Given the description of an element on the screen output the (x, y) to click on. 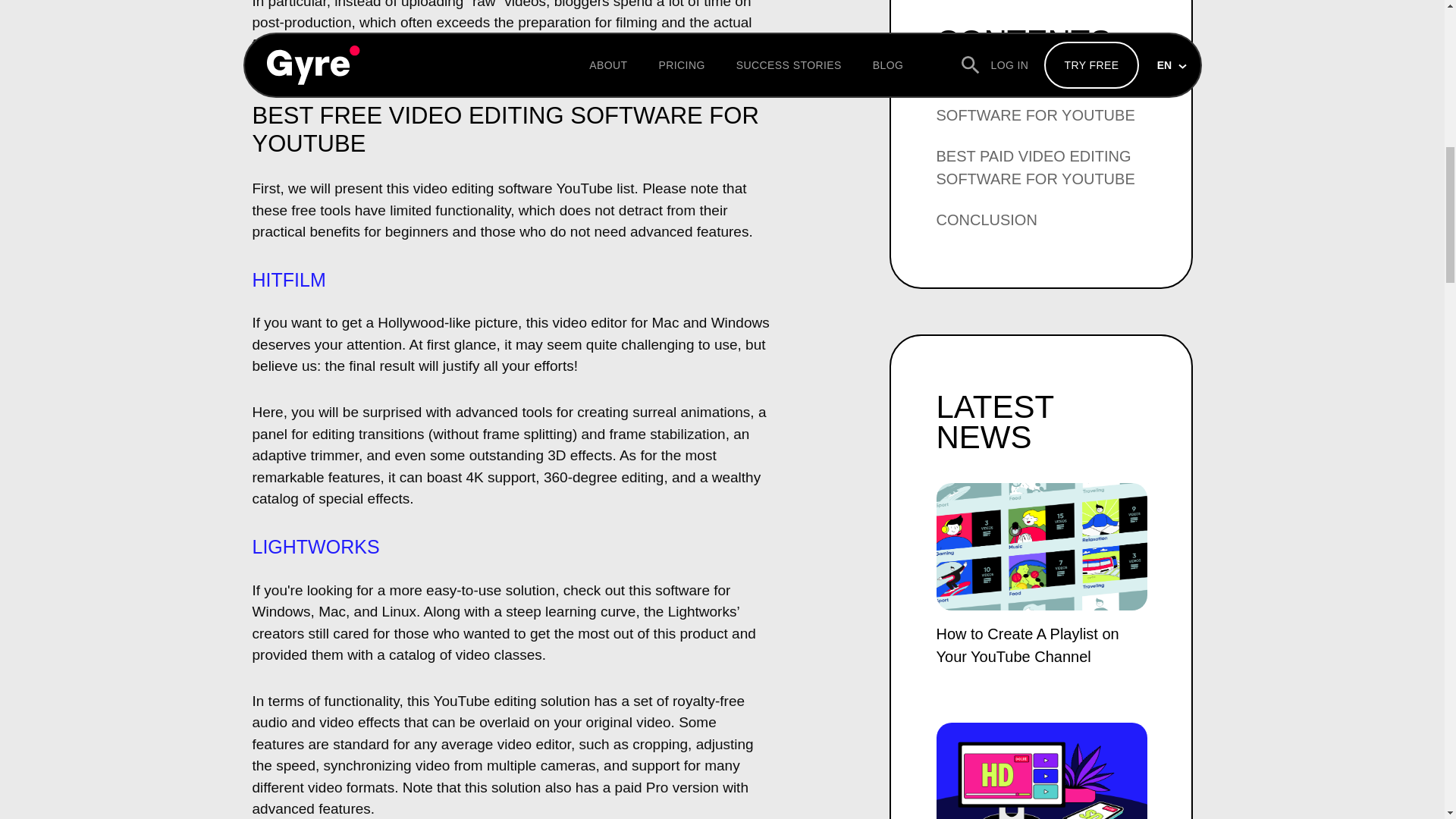
CONCLUSION (986, 219)
HD vs. SD vs. 4K Streaming: What to Consider When Choosing (1041, 770)
How to Create A Playlist on Your YouTube Channel (1041, 578)
BEST FREE VIDEO EDITING SOFTWARE FOR YOUTUBE (1036, 103)
HITFILM  (290, 279)
BEST PAID VIDEO EDITING SOFTWARE FOR YOUTUBE (1035, 167)
LIGHTWORKS (314, 546)
